Given the description of an element on the screen output the (x, y) to click on. 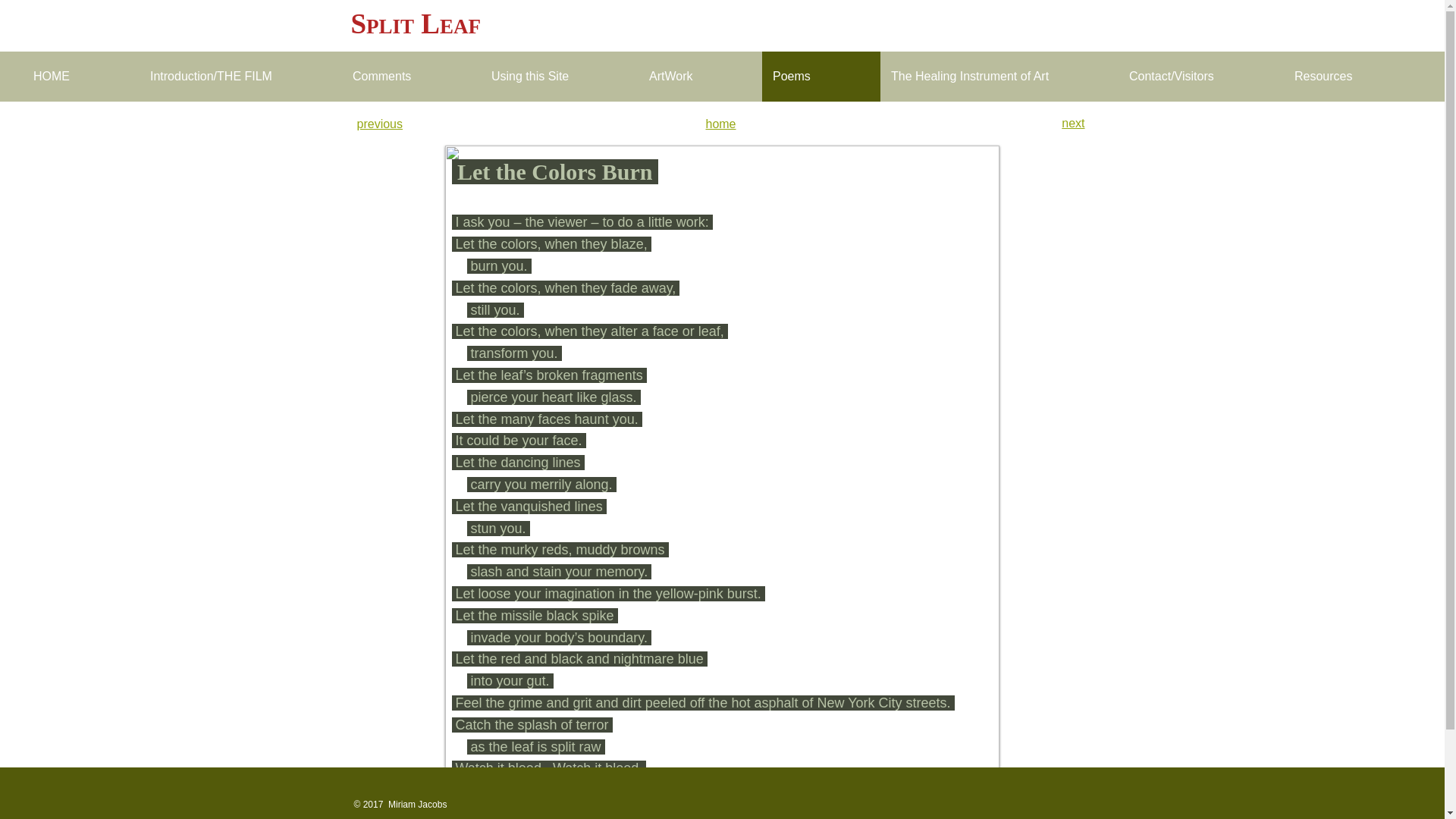
Resources (1353, 76)
ArtWork (700, 76)
Poems (820, 76)
The Healing Instrument of Art (999, 76)
home (719, 123)
Using this Site (559, 76)
HOME (81, 76)
previous (378, 123)
next (1072, 123)
Comments (411, 76)
